Given the description of an element on the screen output the (x, y) to click on. 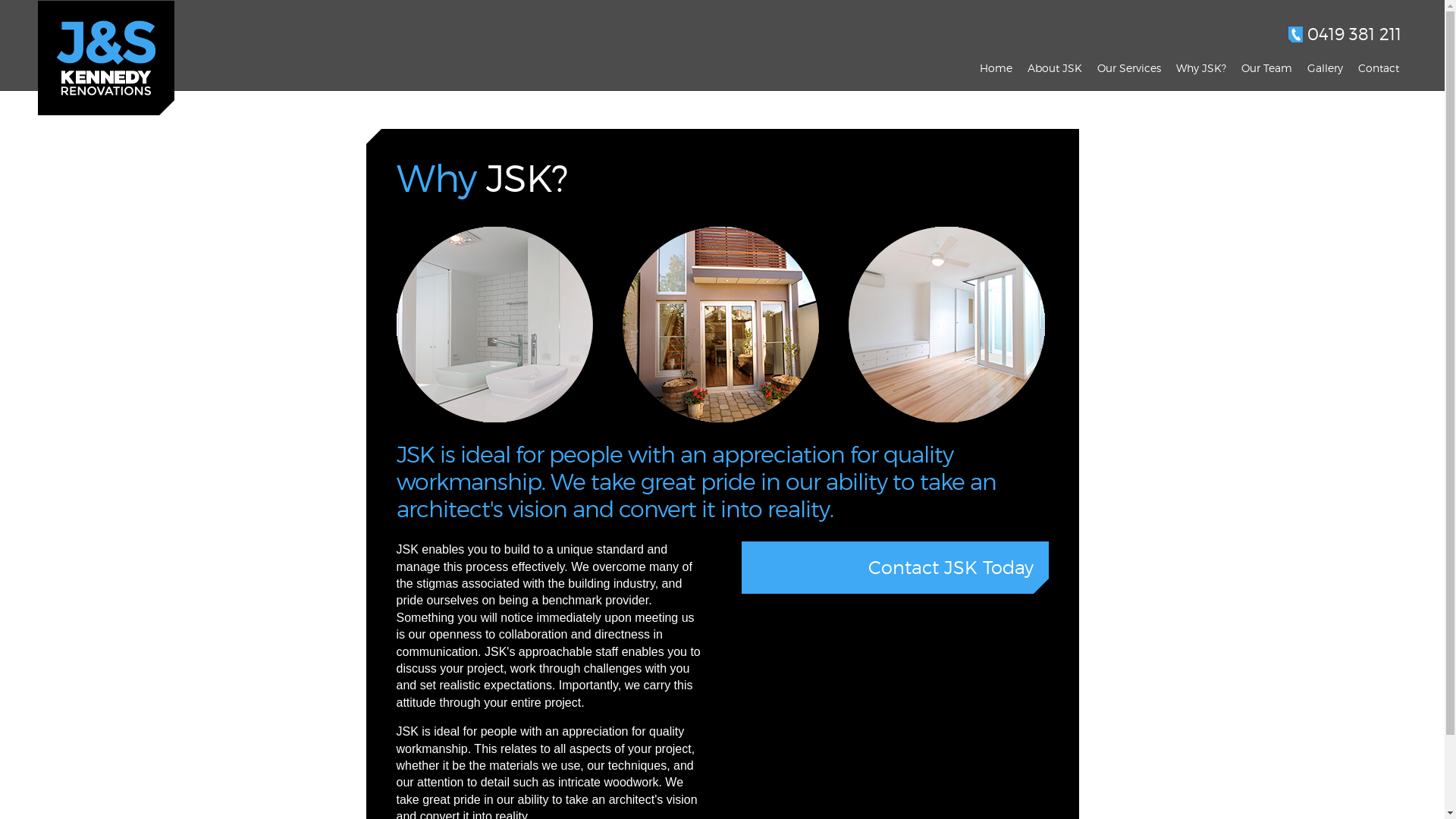
About JSK Element type: text (1054, 67)
Gallery Element type: text (1324, 67)
Our Team Element type: text (1266, 67)
Home Element type: text (995, 67)
Contact JSK Today Element type: text (894, 567)
Our Services Element type: text (1128, 67)
Contact Element type: text (1378, 67)
Why JSK? Element type: text (1200, 67)
